Given the description of an element on the screen output the (x, y) to click on. 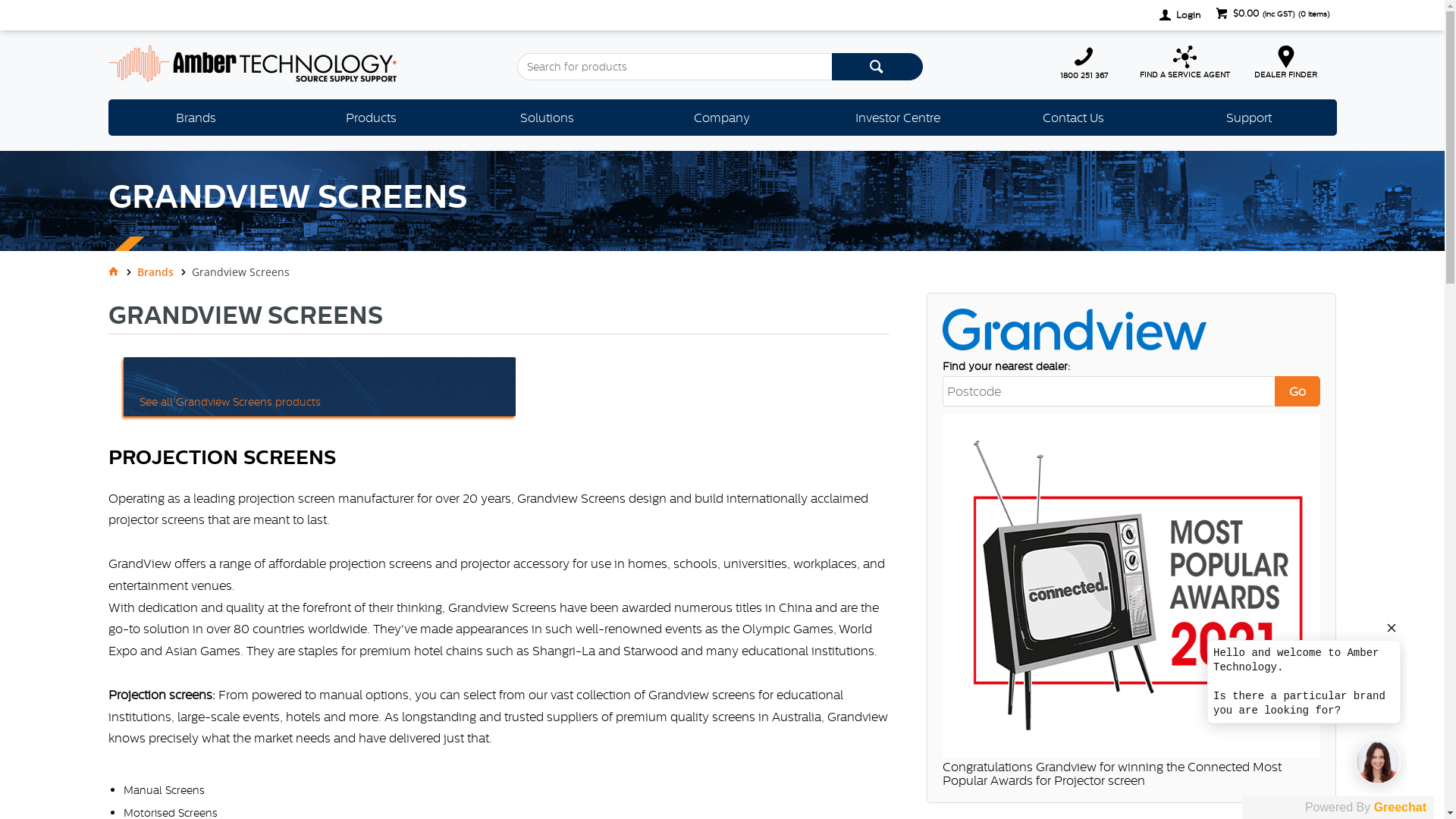
Contact Us Element type: text (1073, 117)
1800 251 367 Element type: text (1083, 62)
Login Element type: text (1179, 15)
Brands Element type: text (194, 117)
Greechat Element type: text (1400, 806)
Go Element type: text (1297, 391)
Brands Element type: text (163, 271)
Search Element type: text (876, 66)
LiveChat chat widget Element type: hover (1300, 704)
See all Grandview Screens products Element type: text (497, 386)
DEALER FINDER Element type: text (1285, 61)
Solutions Element type: text (545, 117)
Grandview Screens Element type: hover (1074, 329)
Products Element type: text (370, 117)
Support Element type: text (1248, 117)
$0.00 (inc GST) (0 items) Element type: text (1271, 15)
Investor Centre Element type: text (897, 117)
FIND A SERVICE AGENT Element type: text (1184, 61)
Company Element type: text (721, 117)
